Given the description of an element on the screen output the (x, y) to click on. 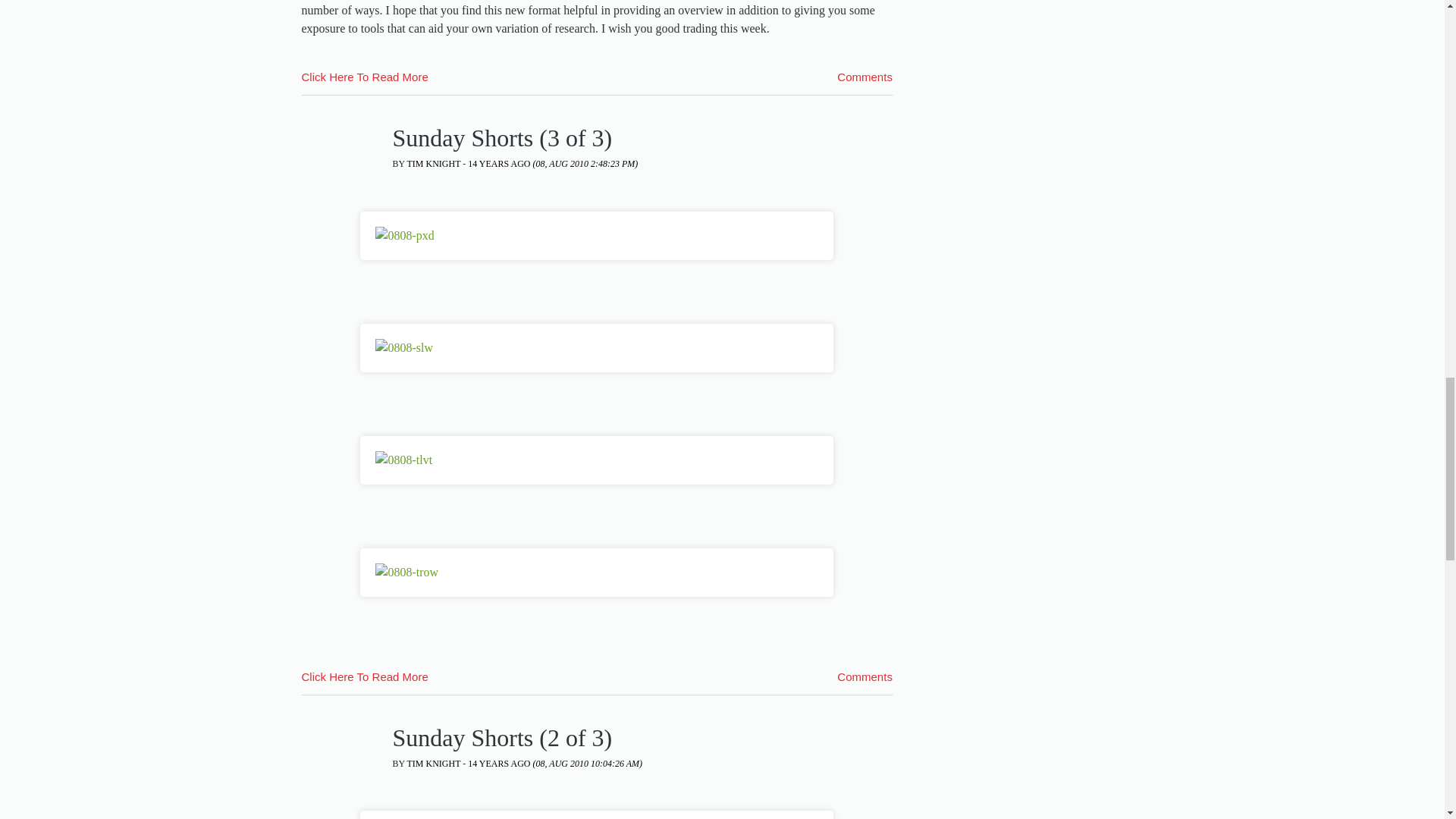
14 years ago (554, 763)
View all posts by Tim Knight (434, 163)
14 years ago (552, 163)
View all posts by Tim Knight (434, 763)
